Given the description of an element on the screen output the (x, y) to click on. 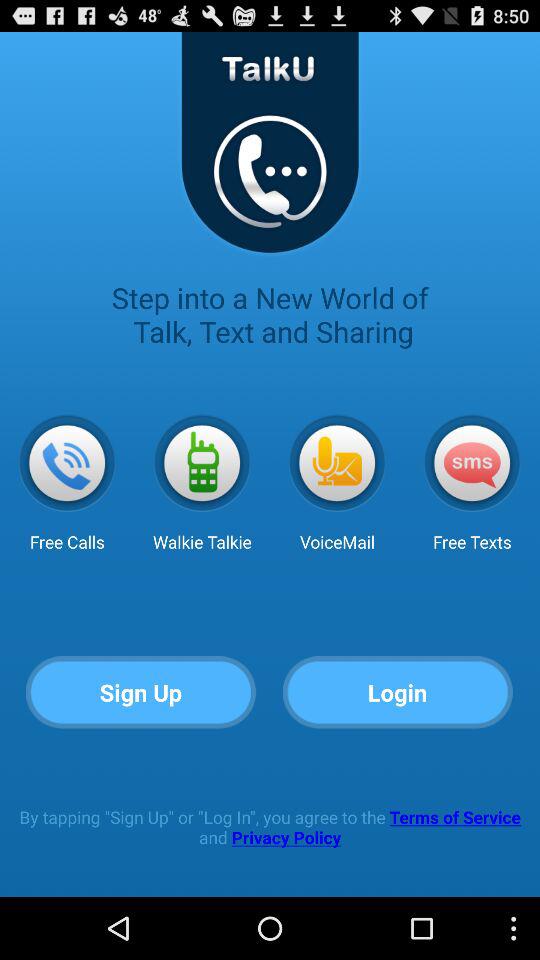
tap the item below the voicemail icon (398, 692)
